Given the description of an element on the screen output the (x, y) to click on. 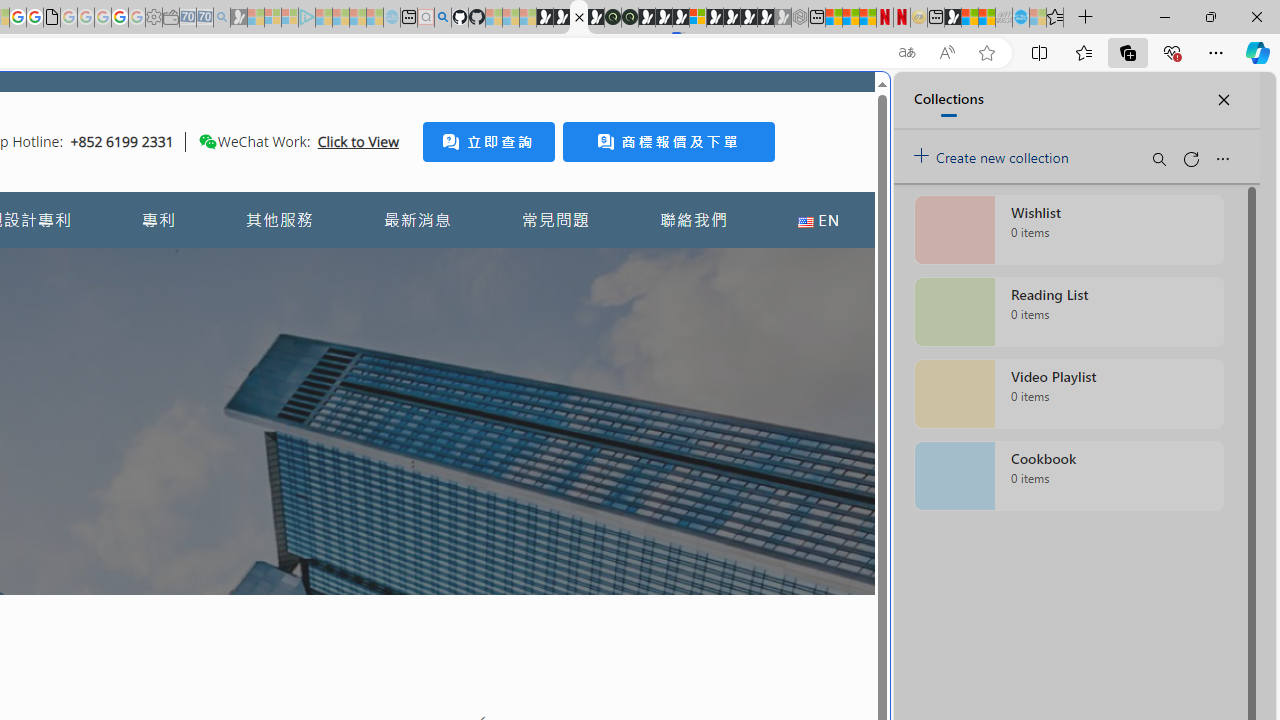
github - Search (442, 17)
